Given the description of an element on the screen output the (x, y) to click on. 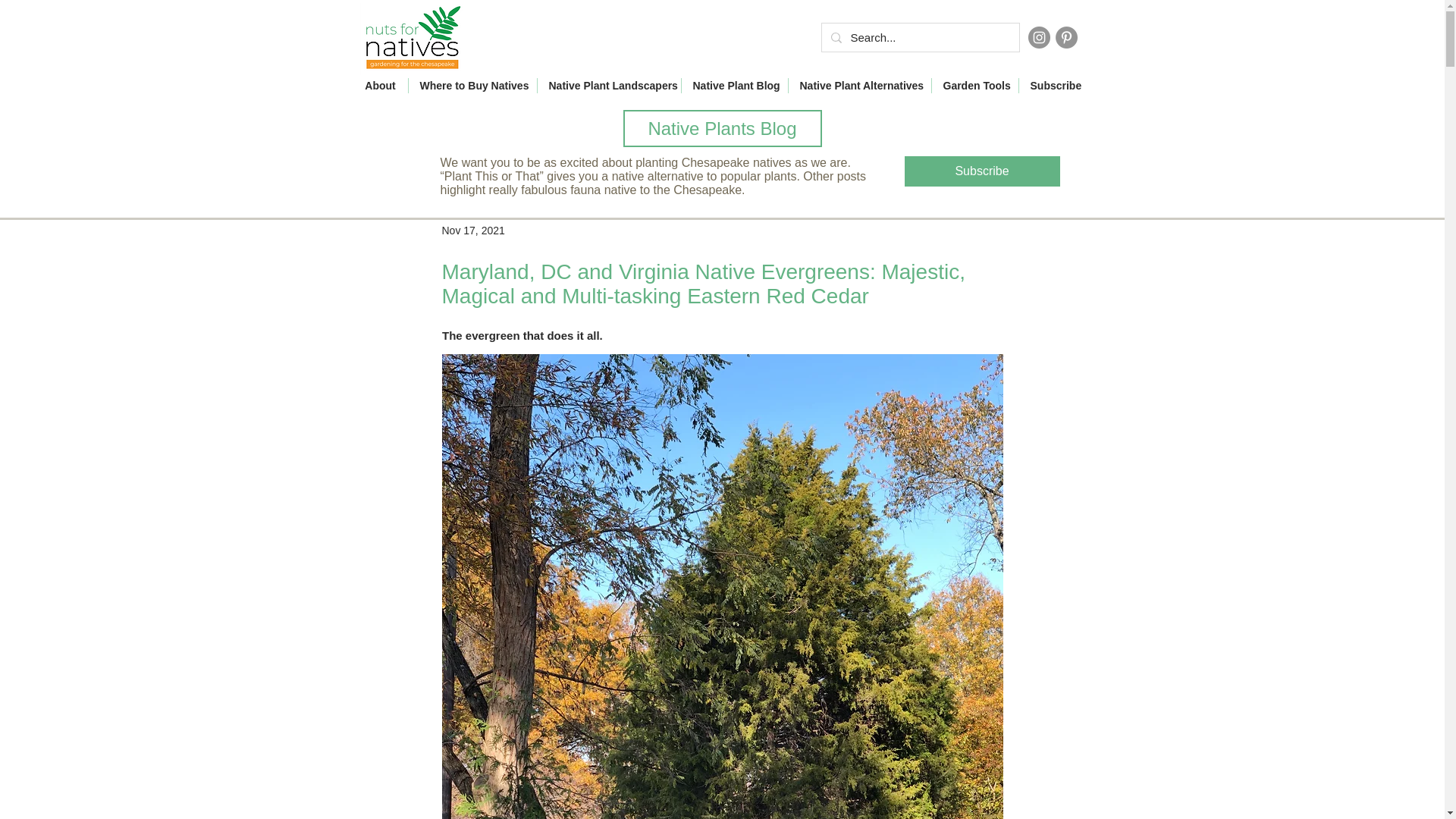
Native Plant Blog (734, 85)
Native Plant Landscapers (608, 85)
About (380, 85)
Native Plants Blog (722, 128)
Where to Buy Natives (471, 85)
Subscribe (1054, 85)
Native Plant Alternatives (860, 85)
Garden Tools (974, 85)
Subscribe (981, 171)
Nov 17, 2021 (472, 230)
